Given the description of an element on the screen output the (x, y) to click on. 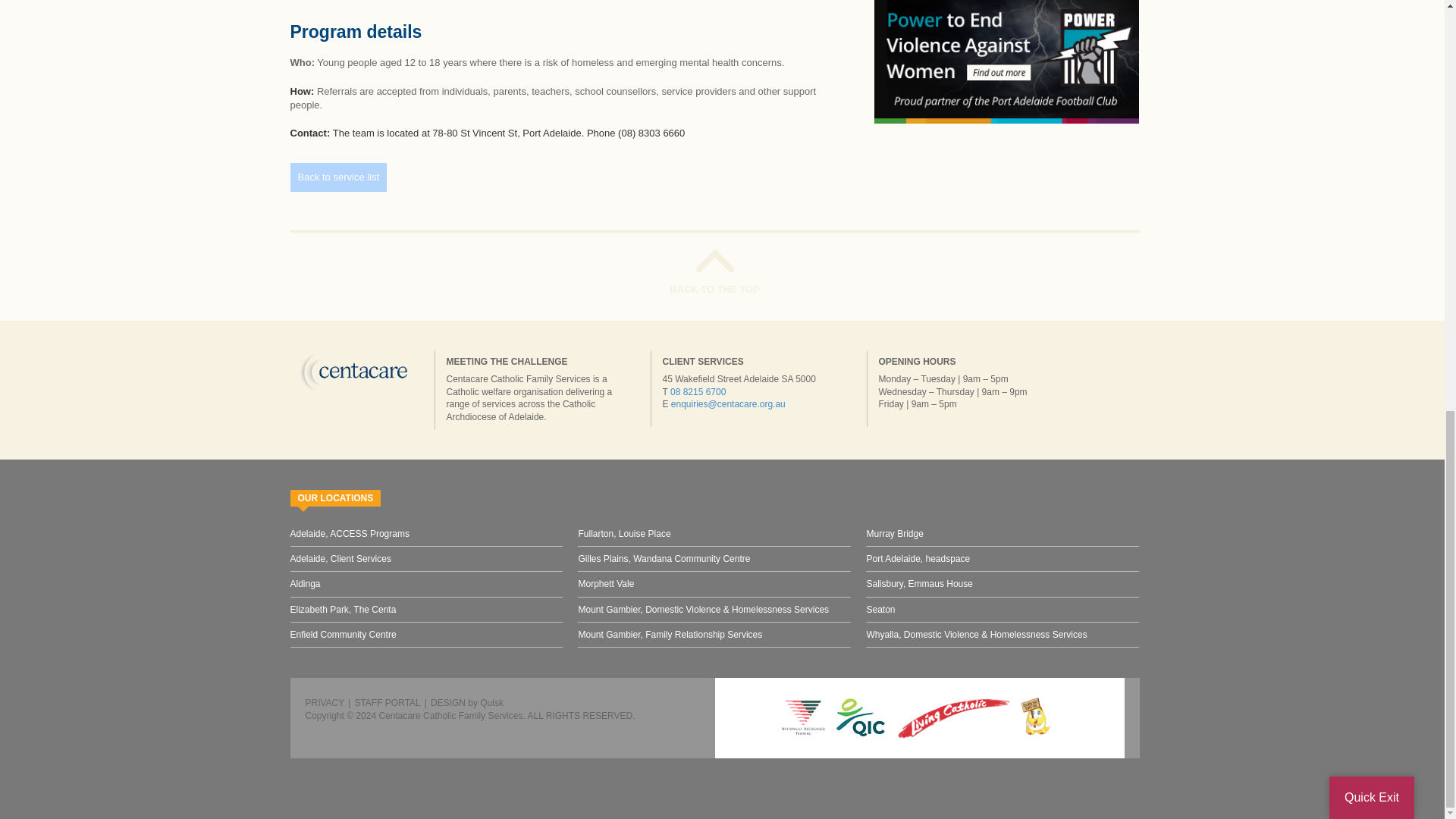
Skills SA (803, 717)
Quality Improvement Council (860, 717)
Living Catholic (953, 717)
